Given the description of an element on the screen output the (x, y) to click on. 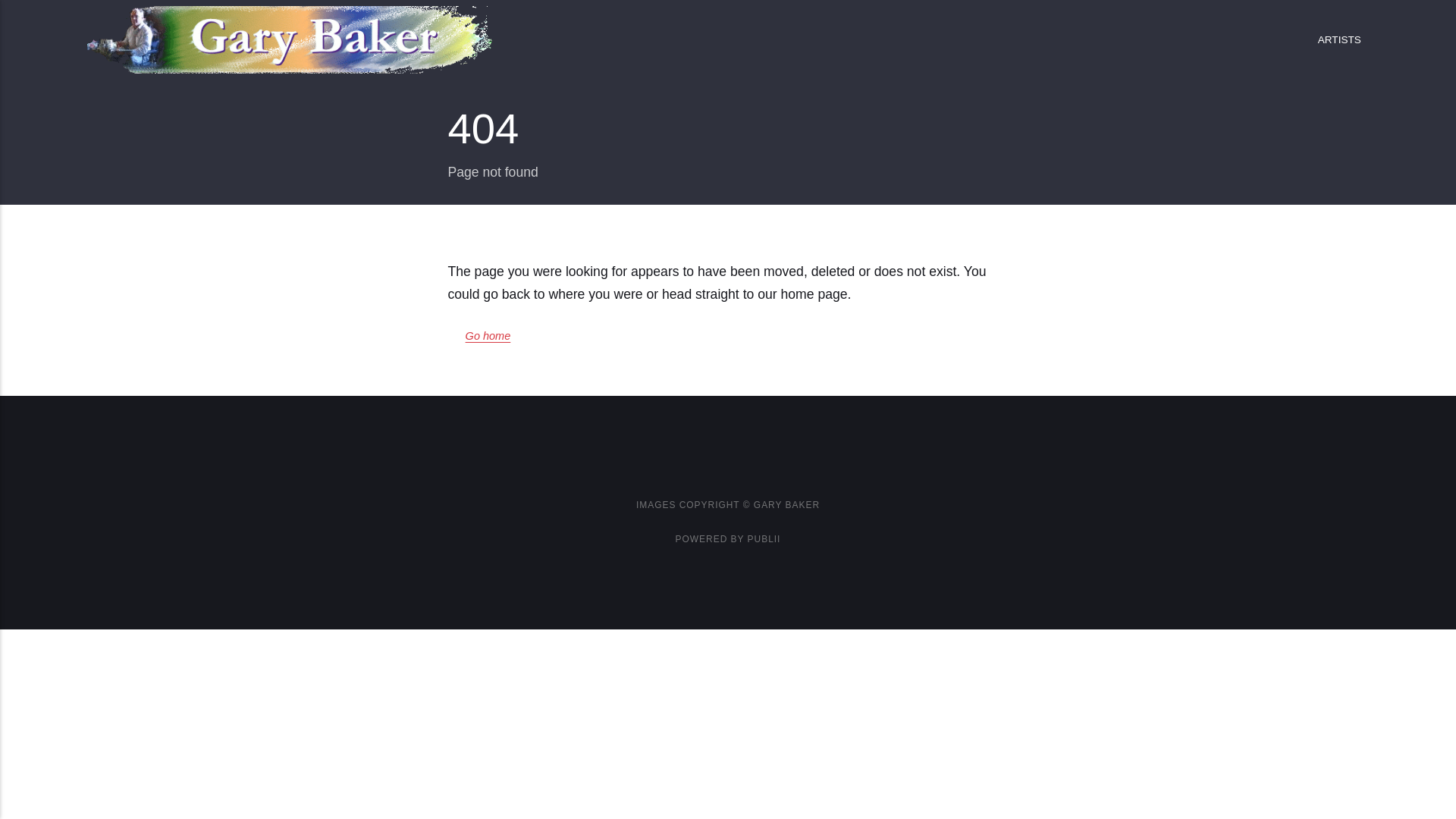
Go home Element type: text (488, 335)
ARTISTS Element type: text (1339, 39)
